Given the description of an element on the screen output the (x, y) to click on. 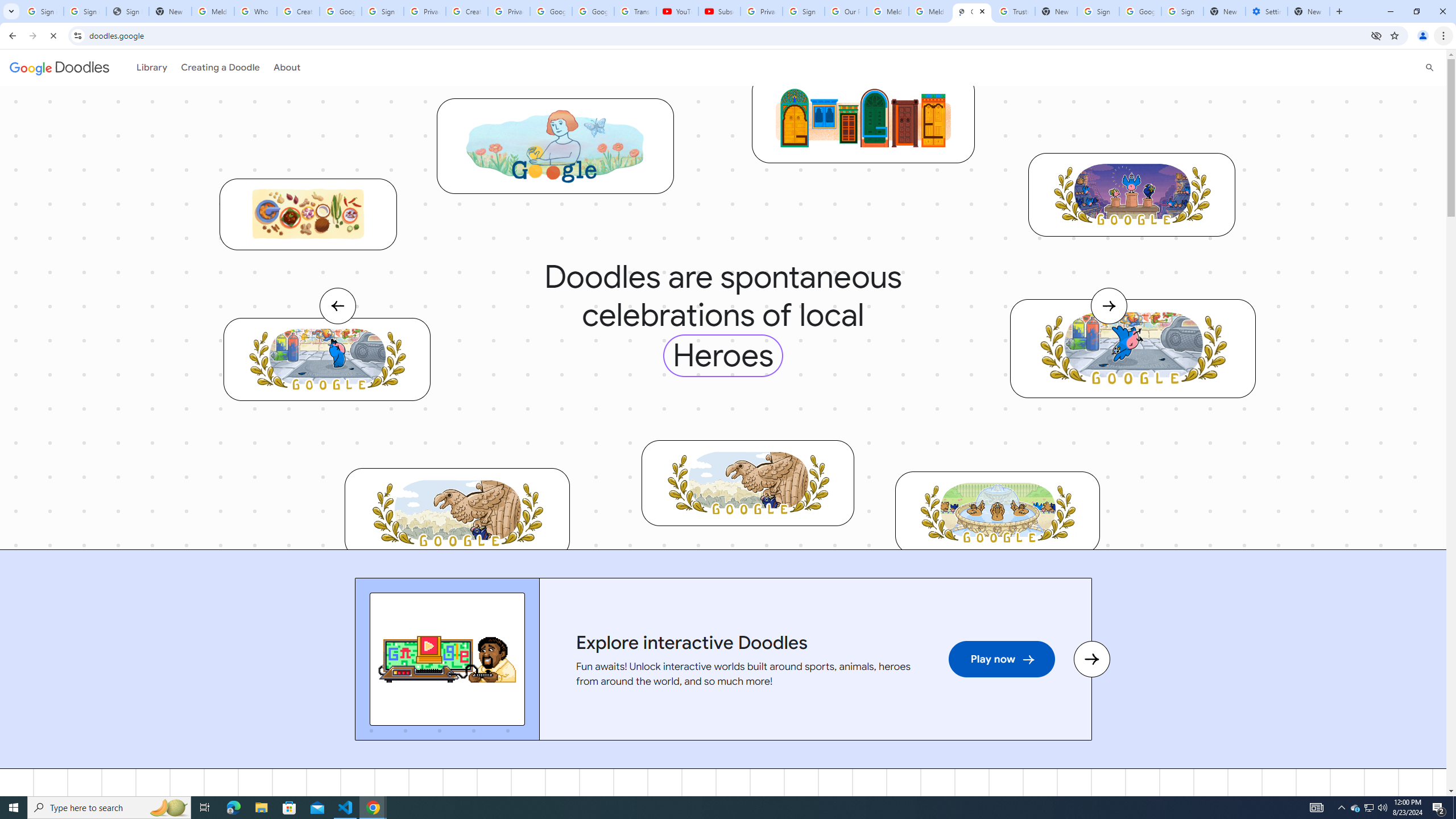
Sign in - Google Accounts (803, 11)
Next slide (1091, 659)
About (279, 67)
New Tab (1224, 11)
Subscriptions - YouTube (719, 11)
Create your Google Account (467, 11)
Sign In - USA TODAY (127, 11)
Create your Google Account (298, 11)
